Given the description of an element on the screen output the (x, y) to click on. 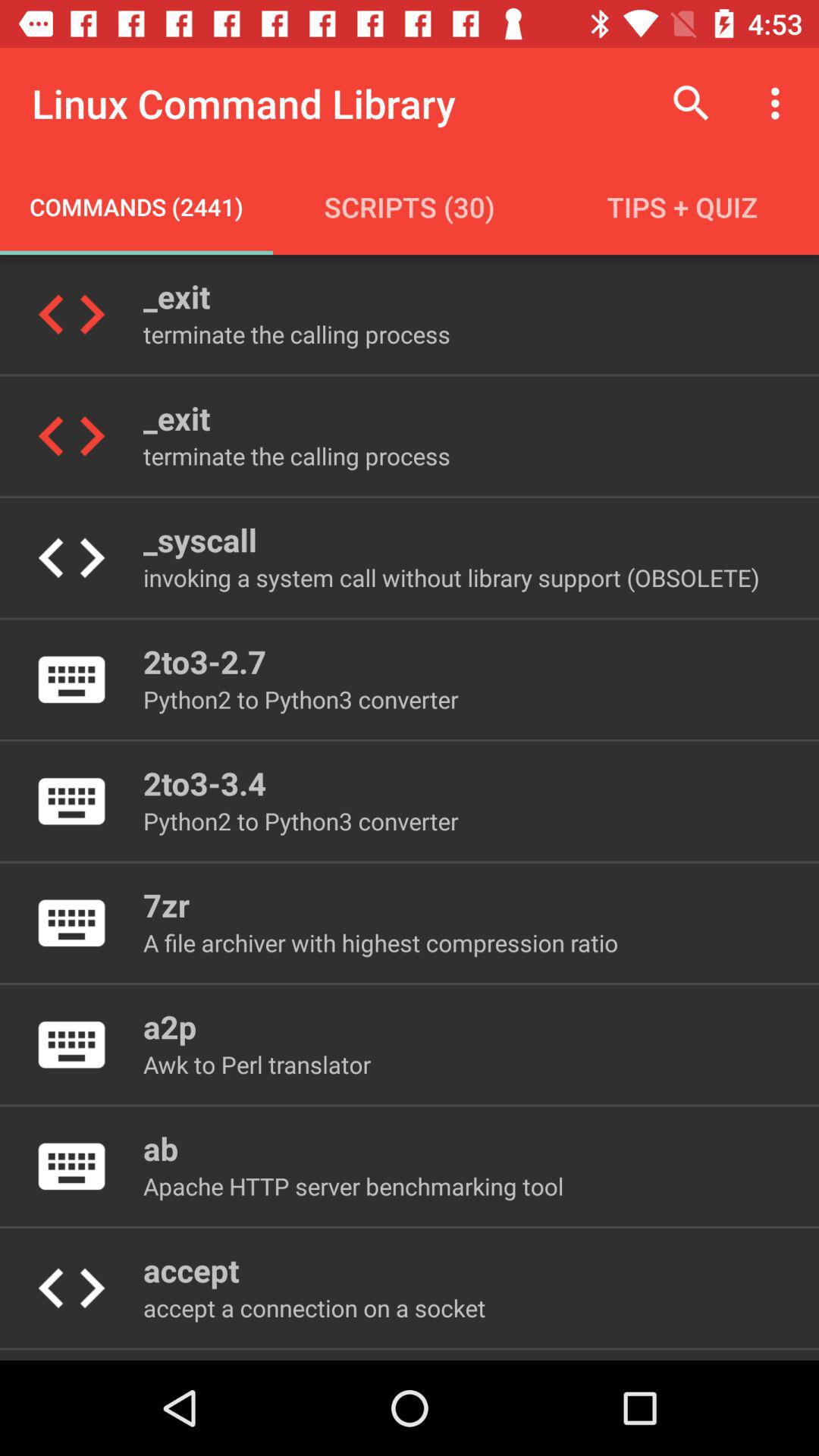
tap a file archiver icon (380, 942)
